Given the description of an element on the screen output the (x, y) to click on. 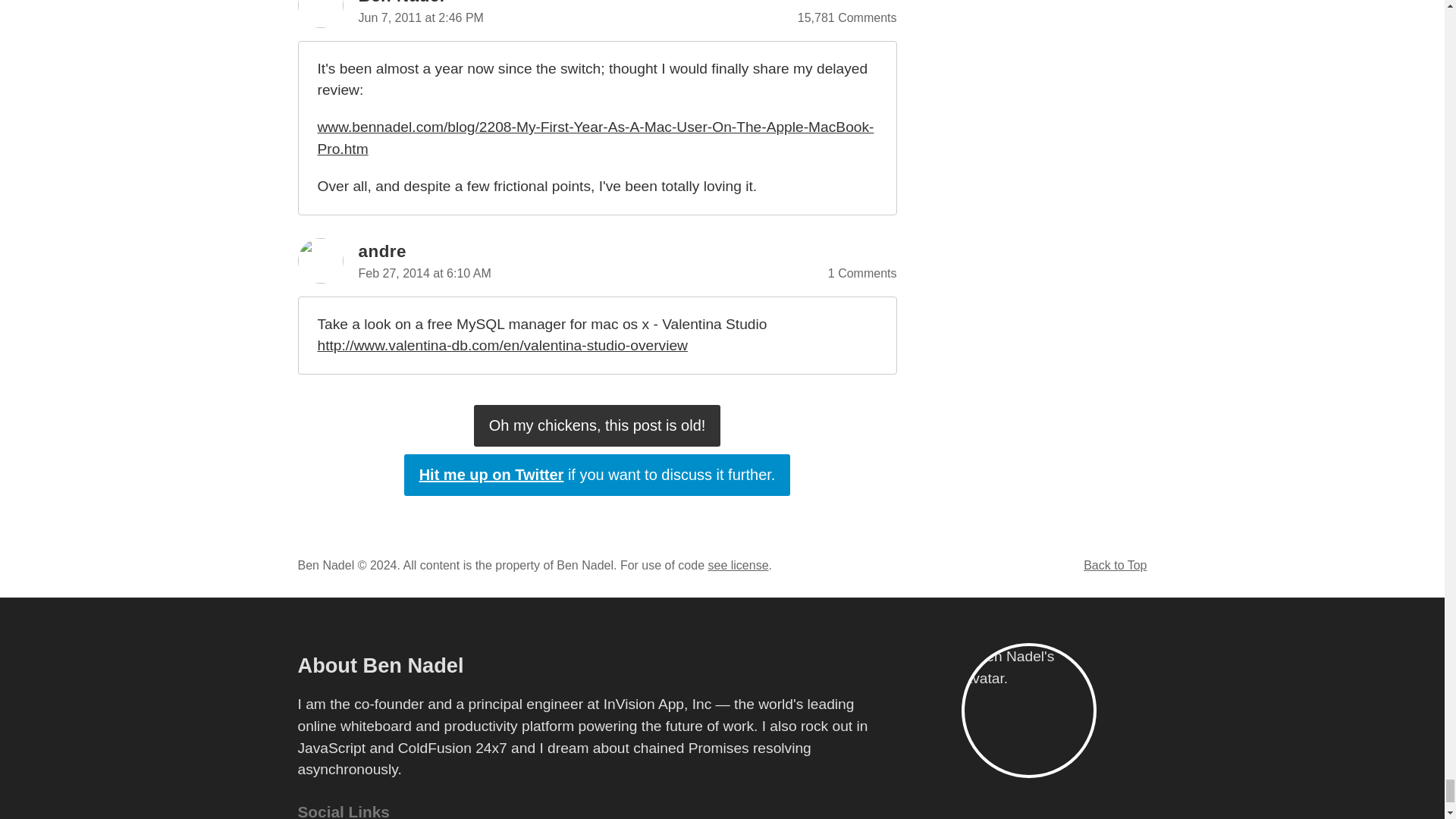
Ben Nadel's Twitter Account (597, 475)
